Given the description of an element on the screen output the (x, y) to click on. 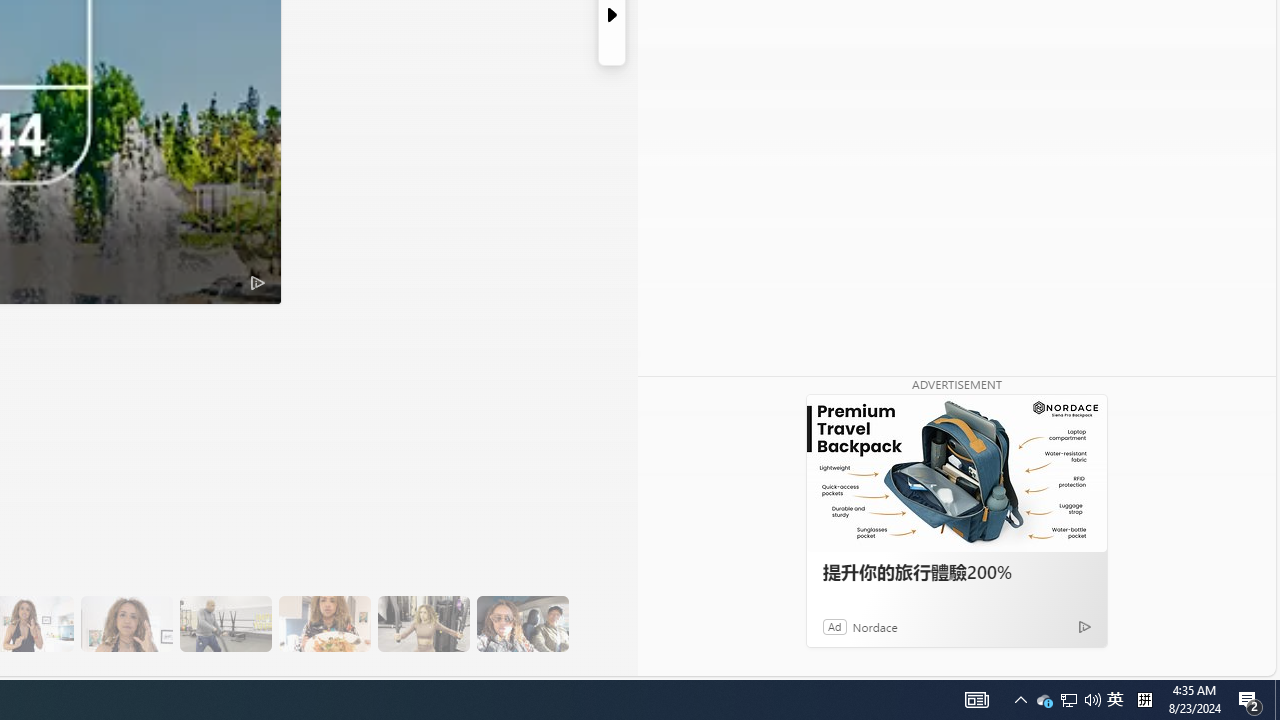
15 They Also Indulge in a Low-Calorie Sweet Treat (423, 624)
13 Her Husband Does Group Cardio Classs (225, 624)
14 They Have Salmon and Veggies for Dinner (324, 624)
13 Her Husband Does Group Cardio Classs (225, 624)
15 They Also Indulge in a Low-Calorie Sweet Treat (423, 624)
14 They Have Salmon and Veggies for Dinner (324, 624)
16 The Couple's Program Helps with Accountability (522, 624)
